Given the description of an element on the screen output the (x, y) to click on. 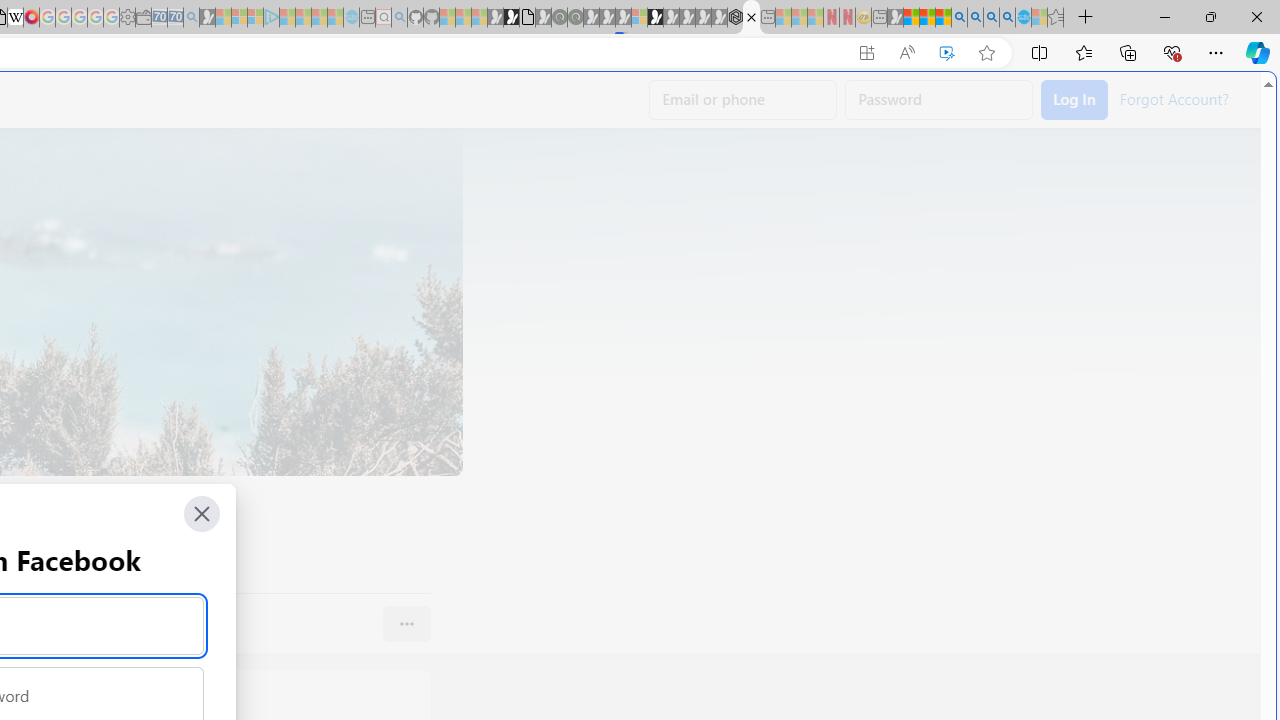
MSN - Sleeping (895, 17)
Sign in to your account - Sleeping (639, 17)
Wallet - Sleeping (143, 17)
Close split screen (844, 102)
Home | Sky Blue Bikes - Sky Blue Bikes - Sleeping (351, 17)
Favorites - Sleeping (1055, 17)
